Given the description of an element on the screen output the (x, y) to click on. 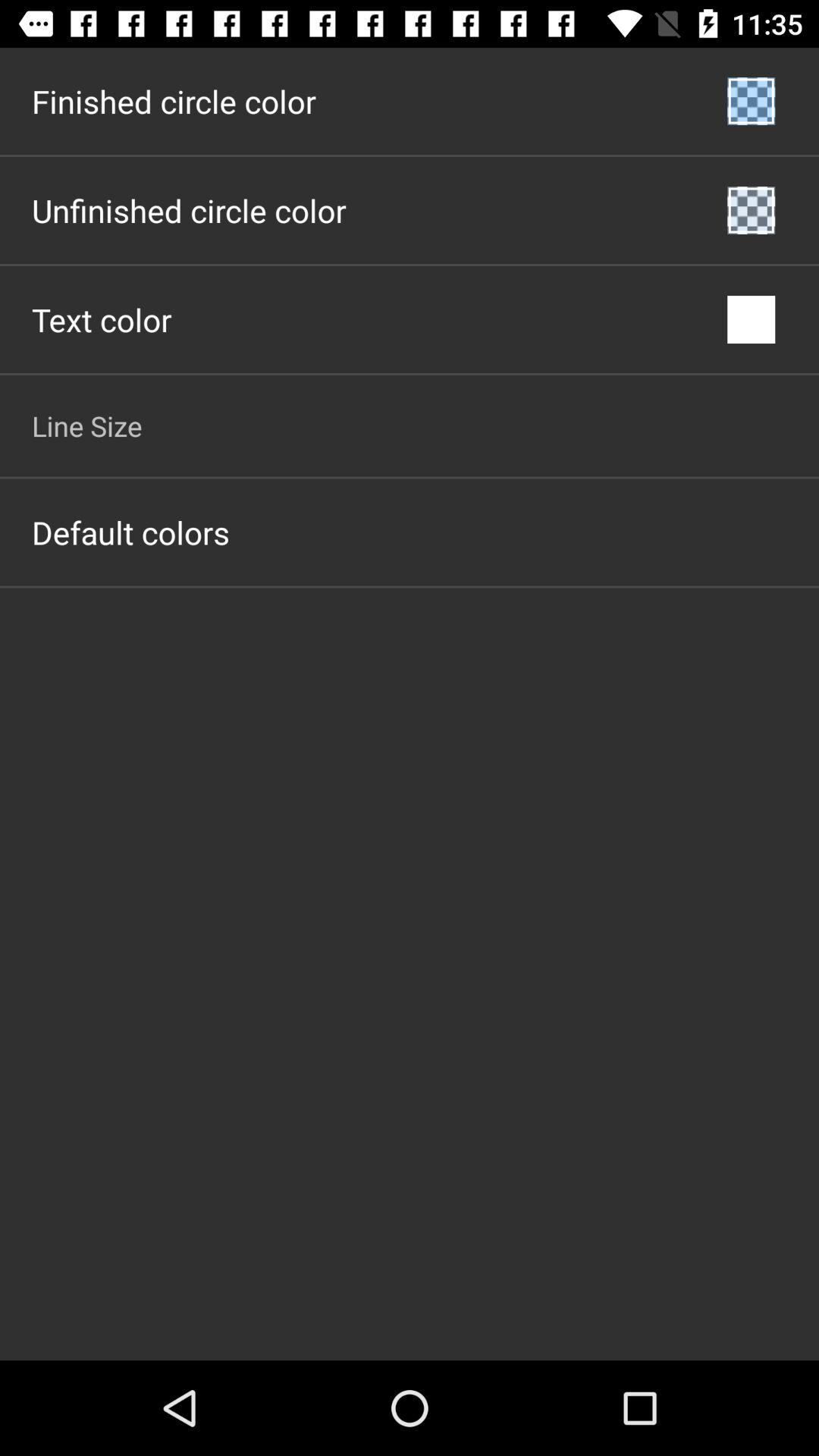
turn on the default colors item (130, 531)
